Given the description of an element on the screen output the (x, y) to click on. 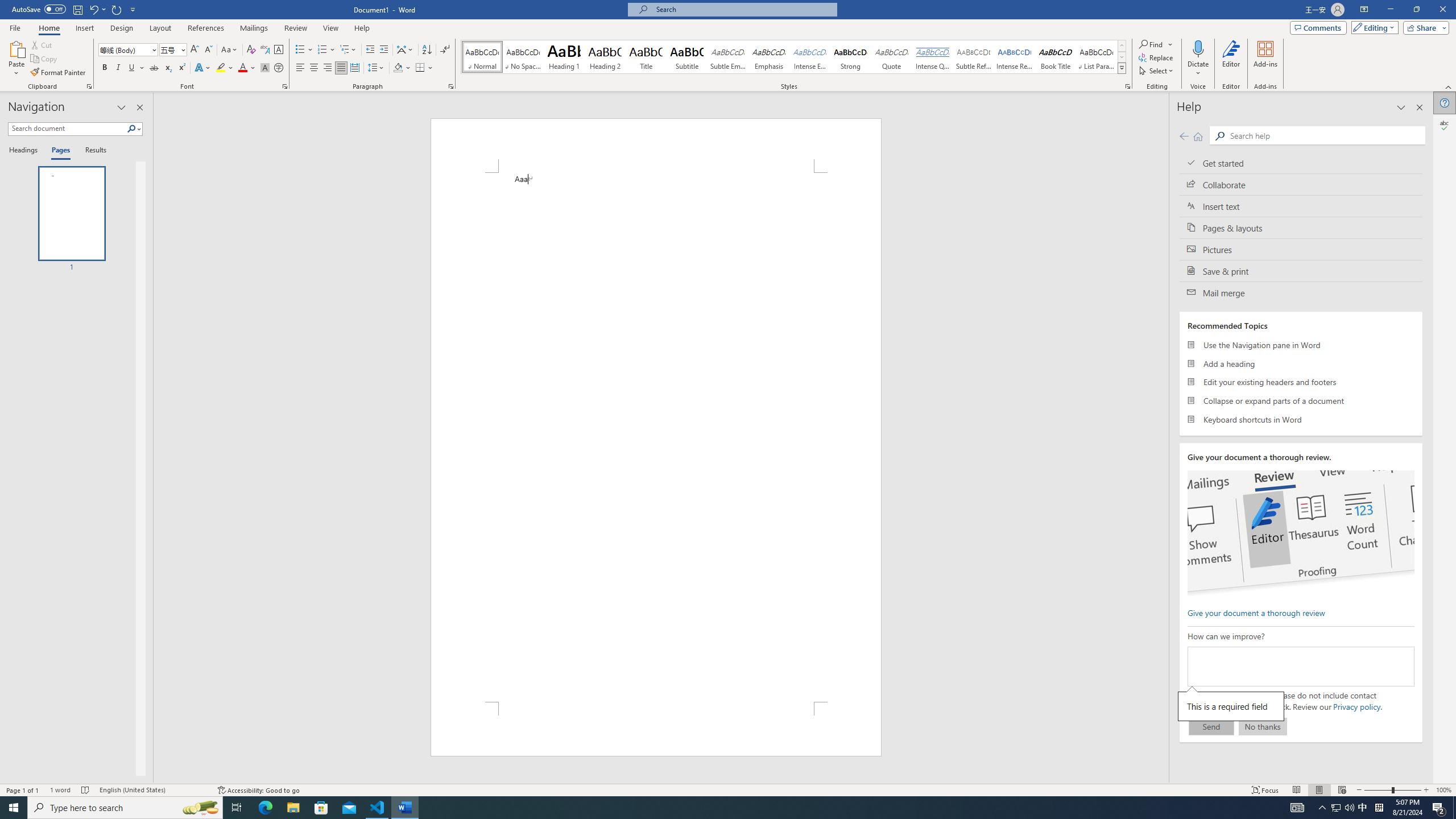
Privacy policy (1356, 706)
Spelling and Grammar Check No Errors (85, 790)
Save & print (1300, 270)
